Given the description of an element on the screen output the (x, y) to click on. 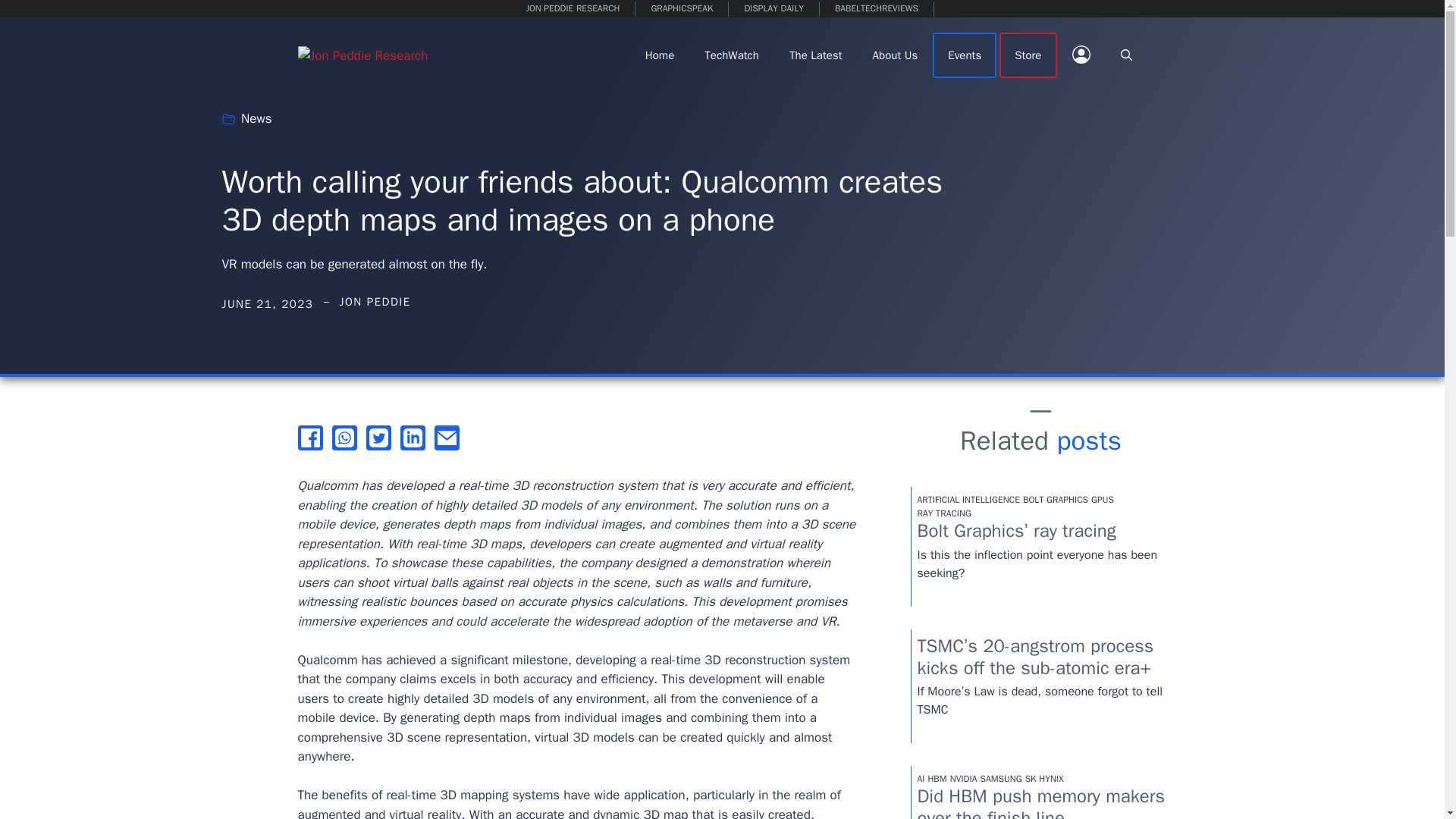
The Latest (815, 54)
BABELTECHREVIEWS (876, 8)
Store (1027, 54)
About Us (895, 54)
Account (1081, 54)
GRAPHICSPEAK (681, 8)
DISPLAY DAILY (773, 8)
JON PEDDIE RESEARCH (572, 8)
Did HBM push memory makers over the finish line (1041, 801)
TechWatch (731, 54)
News (256, 118)
Events (964, 54)
Home (660, 54)
